Given the description of an element on the screen output the (x, y) to click on. 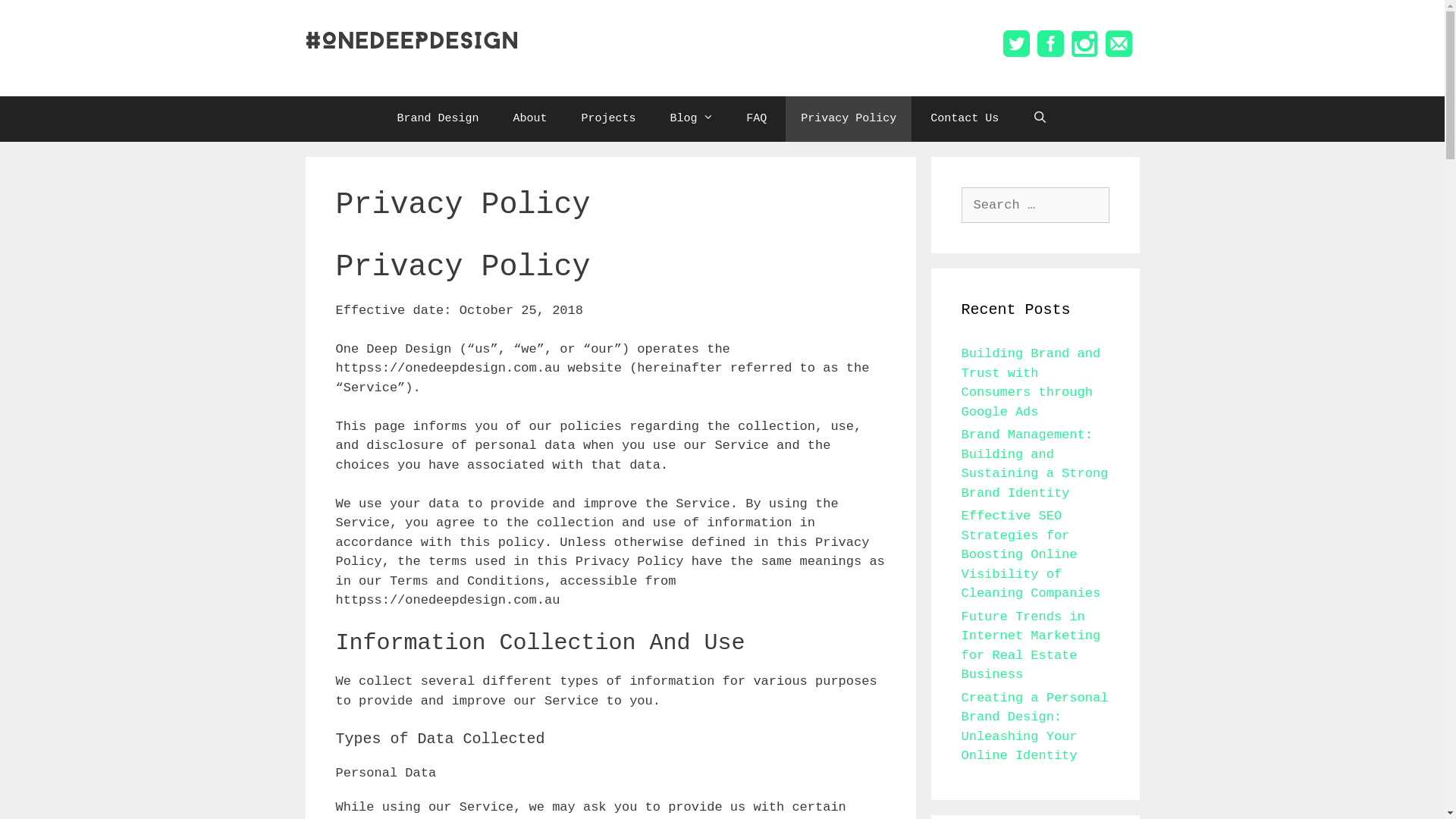
Skip to content Element type: text (0, 0)
Brand Design Element type: text (438, 118)
One Deep Design Element type: hover (410, 40)
FAQ Element type: text (756, 118)
Search Element type: text (1039, 118)
Search Element type: text (39, 18)
Search for: Element type: hover (1035, 204)
About Element type: text (529, 118)
Building Brand and Trust with Consumers through Google Ads Element type: text (1031, 382)
Privacy Policy Element type: text (848, 118)
Blog Element type: text (690, 118)
Contact Us Element type: text (964, 118)
Projects Element type: text (607, 118)
One Deep Design Element type: hover (410, 39)
Future Trends in Internet Marketing for Real Estate Business Element type: text (1031, 645)
